Given the description of an element on the screen output the (x, y) to click on. 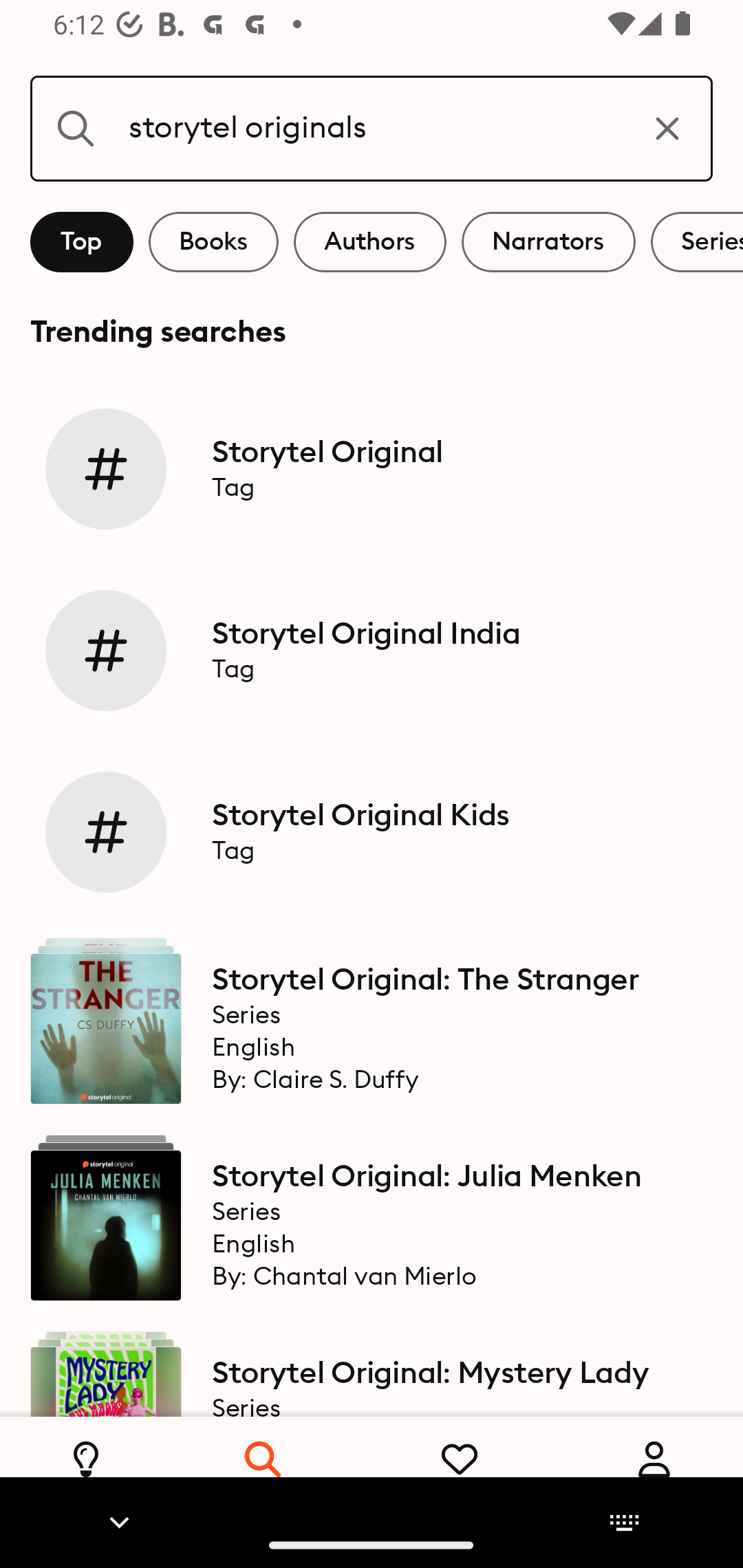
storytel originals (371, 128)
Top (81, 241)
Books (213, 241)
Authors (369, 241)
Narrators (548, 241)
Series (696, 241)
Storytel Original Tag (371, 468)
Storytel Original India Tag (371, 650)
Storytel Original Kids Tag (371, 832)
Storytel Original: Mystery Lady Series (371, 1366)
